Given the description of an element on the screen output the (x, y) to click on. 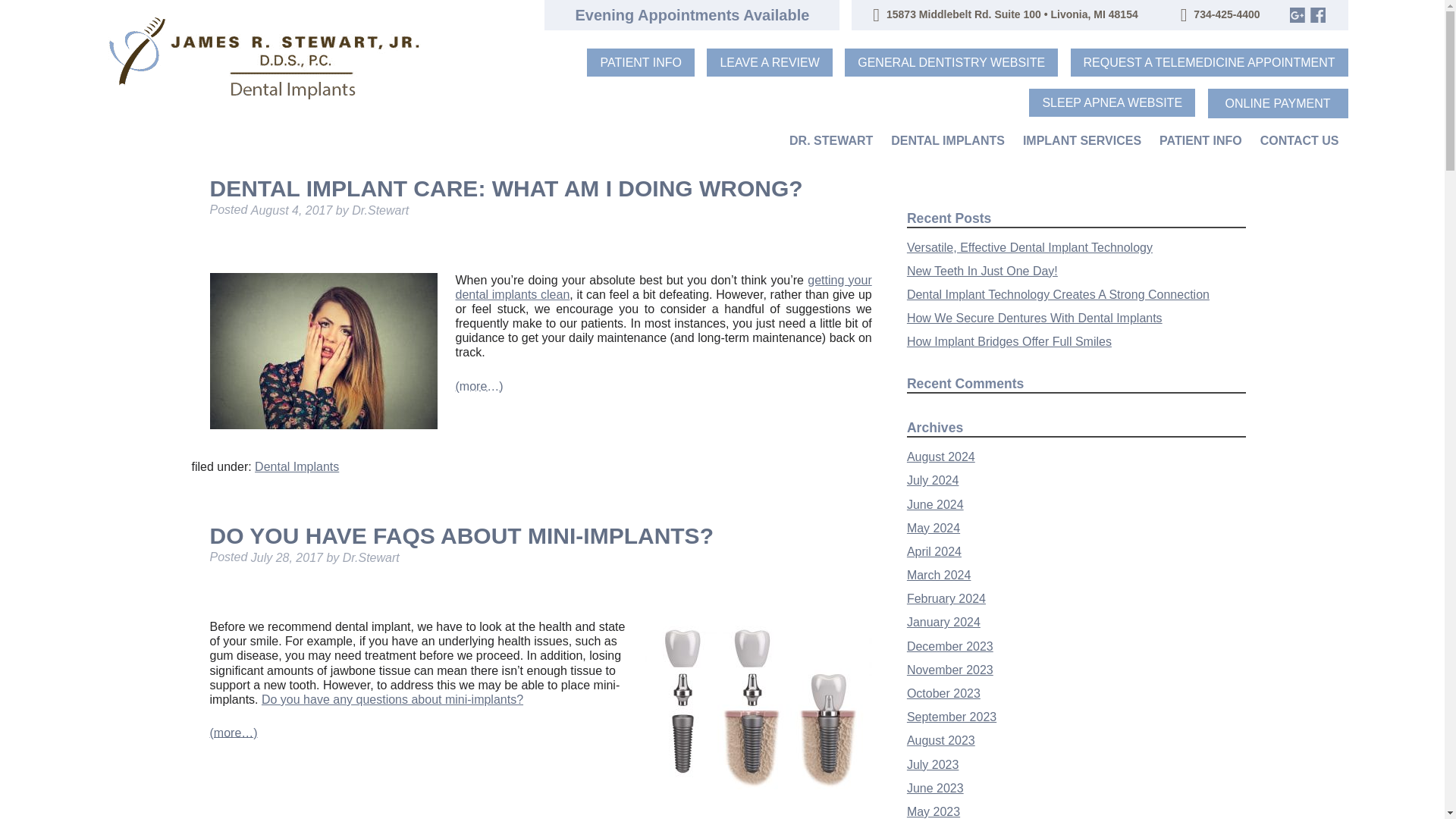
DENTAL IMPLANTS (947, 140)
PATIENT INFO (1200, 140)
SLEEP APNEA WEBSITE (1112, 102)
Dental Implants (296, 465)
Do You Have FAQs About Mini-Implants? (461, 535)
DENTAL IMPLANT CARE: WHAT AM I DOING WRONG? (505, 188)
ONLINE PAYMENT (1278, 102)
DR. STEWART (831, 140)
DO YOU HAVE FAQS ABOUT MINI-IMPLANTS? (461, 535)
IMPLANT SERVICES (1081, 140)
